Given the description of an element on the screen output the (x, y) to click on. 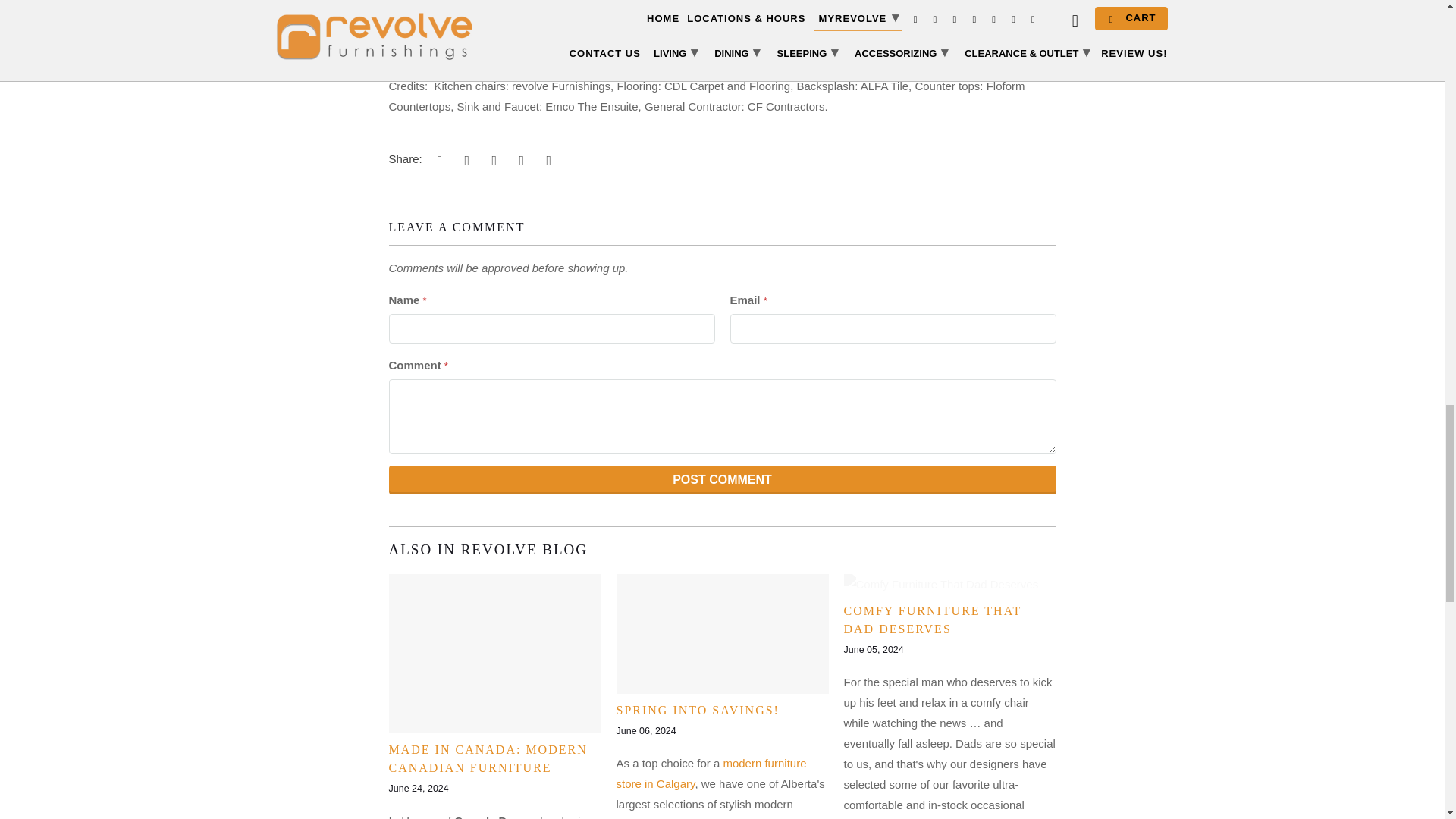
Made in Canada: Modern Canadian Furniture (487, 757)
Spring into Savings! (721, 633)
Share this on Pinterest (491, 159)
Email this to a friend (546, 159)
Share this on Facebook (464, 159)
Post comment (721, 480)
here (571, 44)
Spring into Savings! (696, 709)
Share this on Twitter (437, 159)
Made in Canada: Modern Canadian Furniture (493, 653)
